Given the description of an element on the screen output the (x, y) to click on. 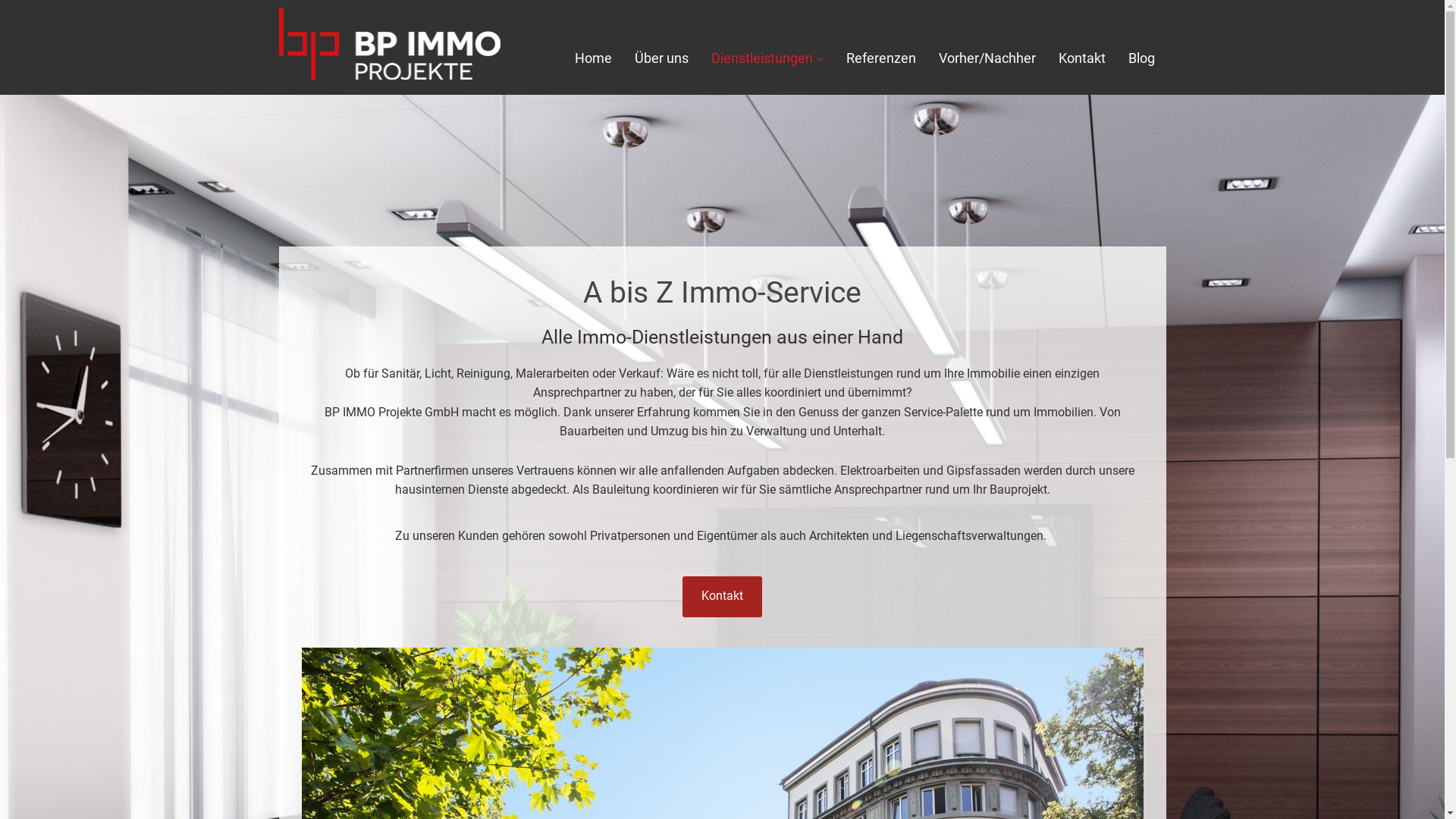
Home Element type: text (592, 58)
Kontakt Element type: text (722, 596)
Kontakt Element type: text (1081, 58)
Referenzen Element type: text (881, 58)
Blog Element type: text (1141, 58)
Vorher/Nachher Element type: text (986, 58)
Dienstleistungen Element type: text (767, 58)
